Given the description of an element on the screen output the (x, y) to click on. 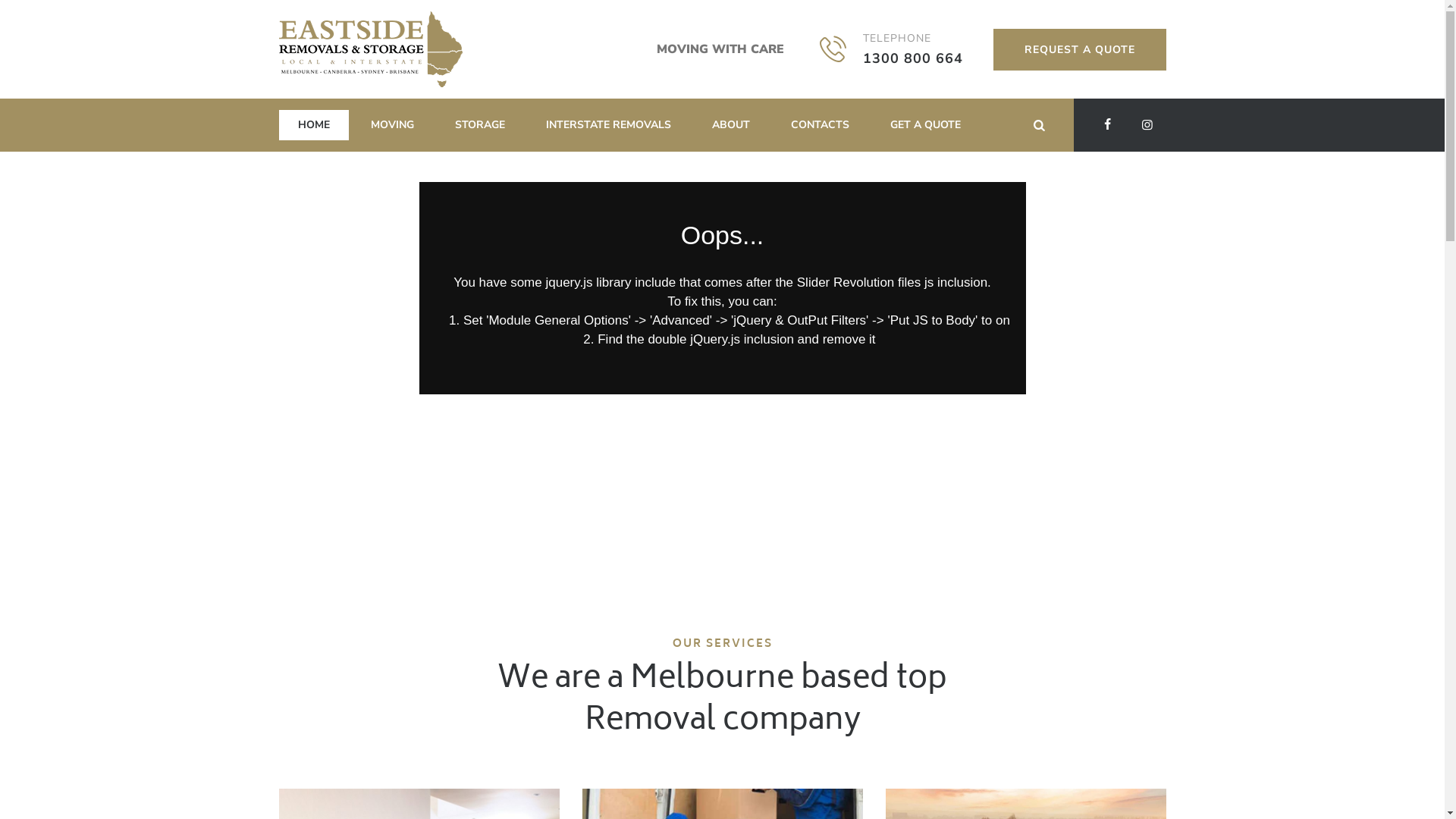
GET A QUOTE Element type: text (924, 124)
MOVING Element type: text (392, 124)
1300 800 664 Element type: text (912, 57)
Eastside Removal Element type: hover (370, 49)
ABOUT Element type: text (730, 124)
HOME Element type: text (313, 124)
REQUEST A QUOTE Element type: text (1079, 49)
STORAGE Element type: text (479, 124)
INTERSTATE REMOVALS Element type: text (607, 124)
CONTACTS Element type: text (819, 124)
